Given the description of an element on the screen output the (x, y) to click on. 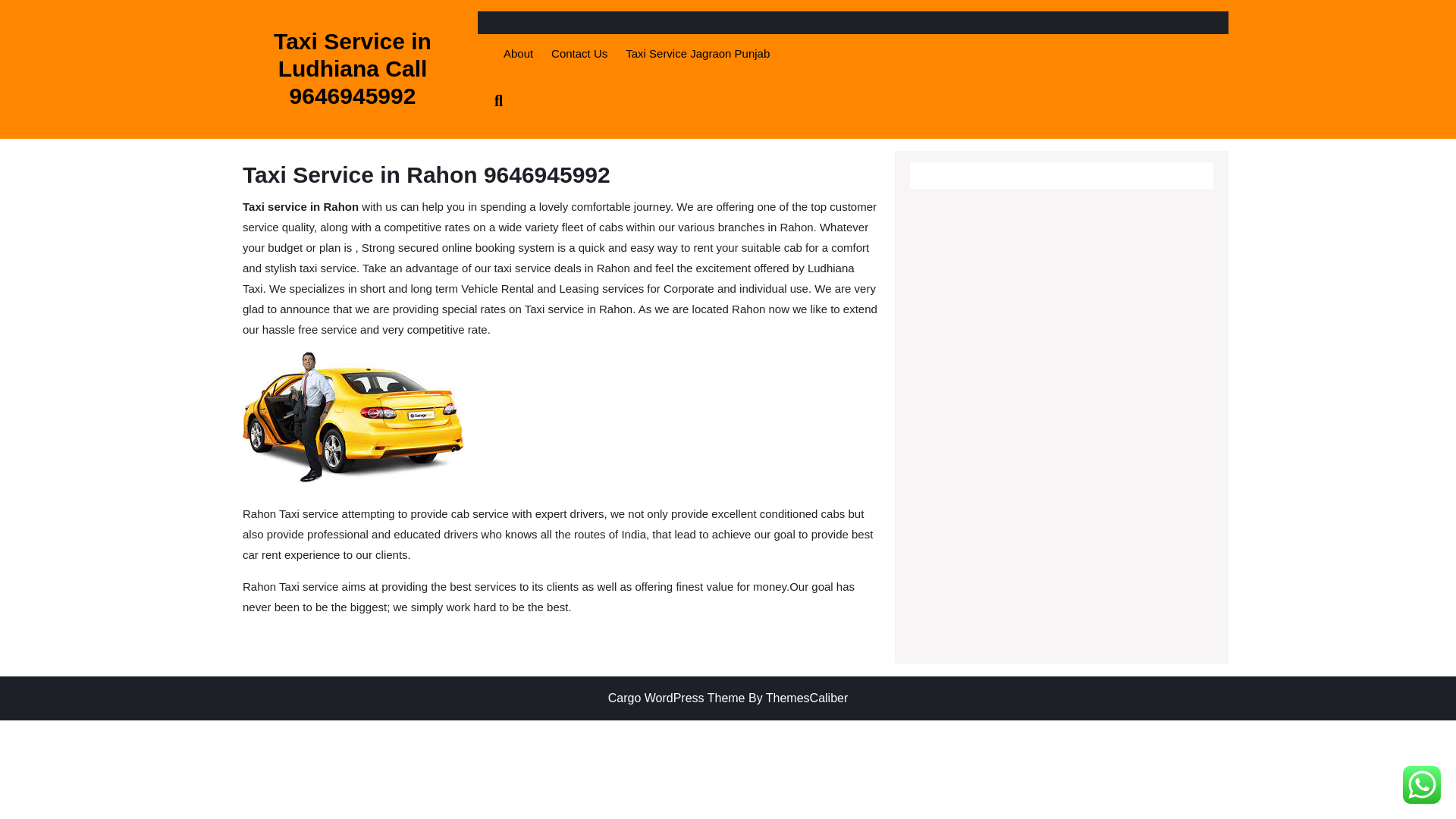
Contact Us (578, 54)
Cargo WordPress Theme (676, 697)
Taxi Service Jagraon Punjab (697, 54)
About (518, 54)
Taxi Service in Ludhiana Call 9646945992 (351, 68)
